Given the description of an element on the screen output the (x, y) to click on. 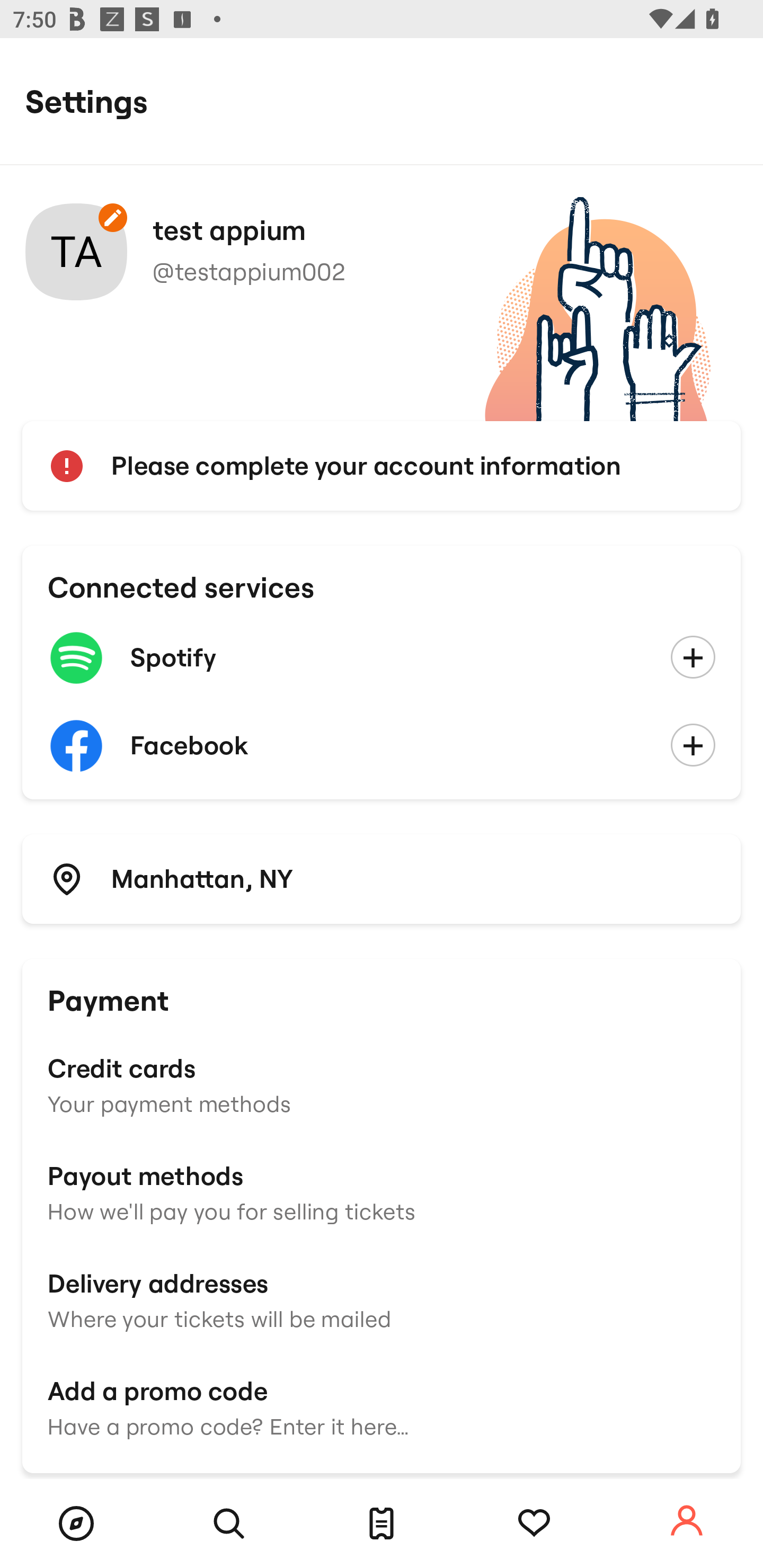
Your account photo (76, 252)
Please complete your account information (381, 466)
Spotify (381, 658)
Facebook (381, 746)
Manhattan, NY (381, 878)
Credit cards Your payment methods (381, 1084)
Add a promo code Have a promo code? Enter it here… (381, 1406)
Browse (76, 1523)
Search (228, 1523)
Tickets (381, 1523)
Tracking (533, 1523)
Account (686, 1521)
